Given the description of an element on the screen output the (x, y) to click on. 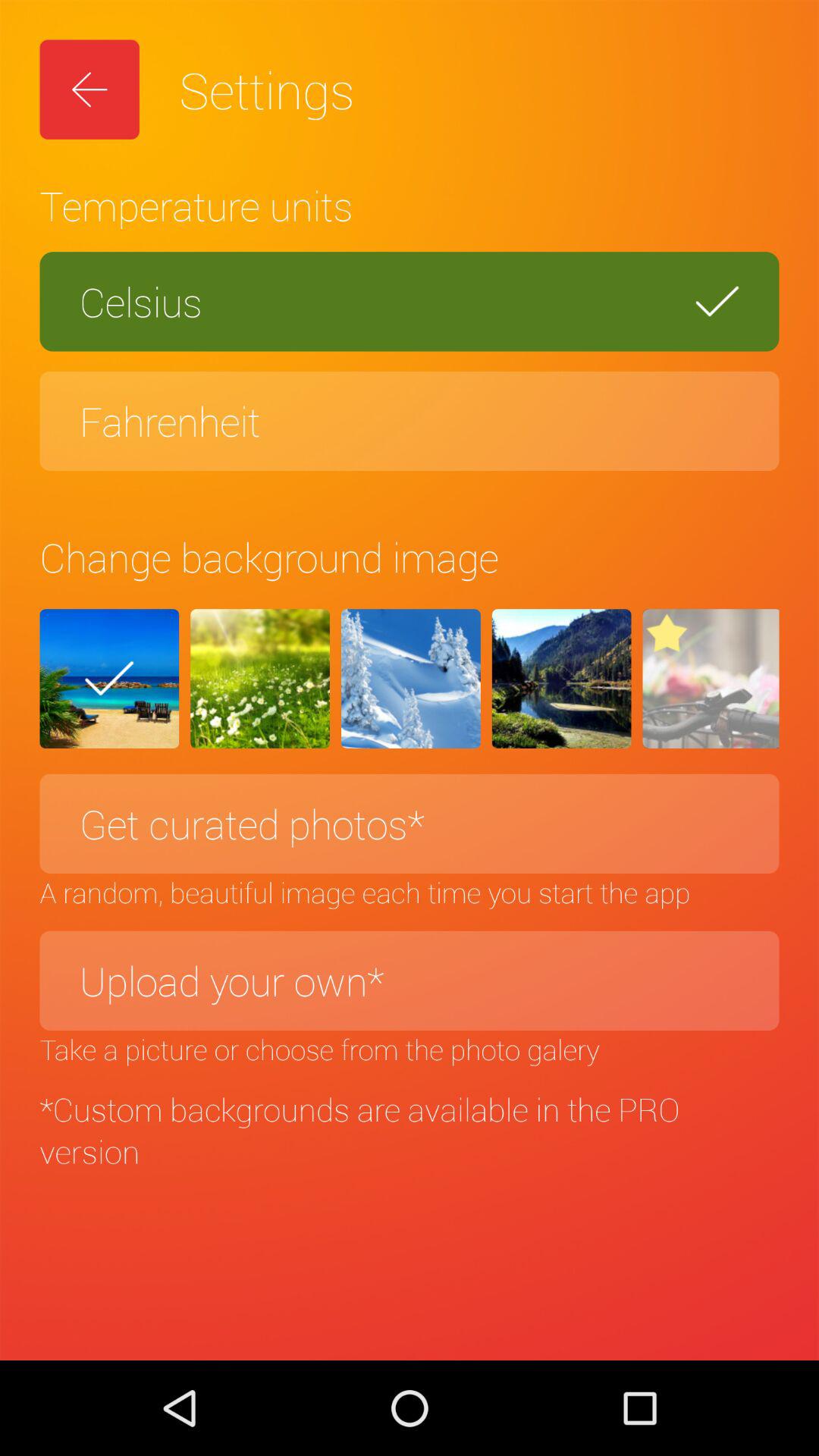
tap custom backgrounds are icon (409, 1130)
